Given the description of an element on the screen output the (x, y) to click on. 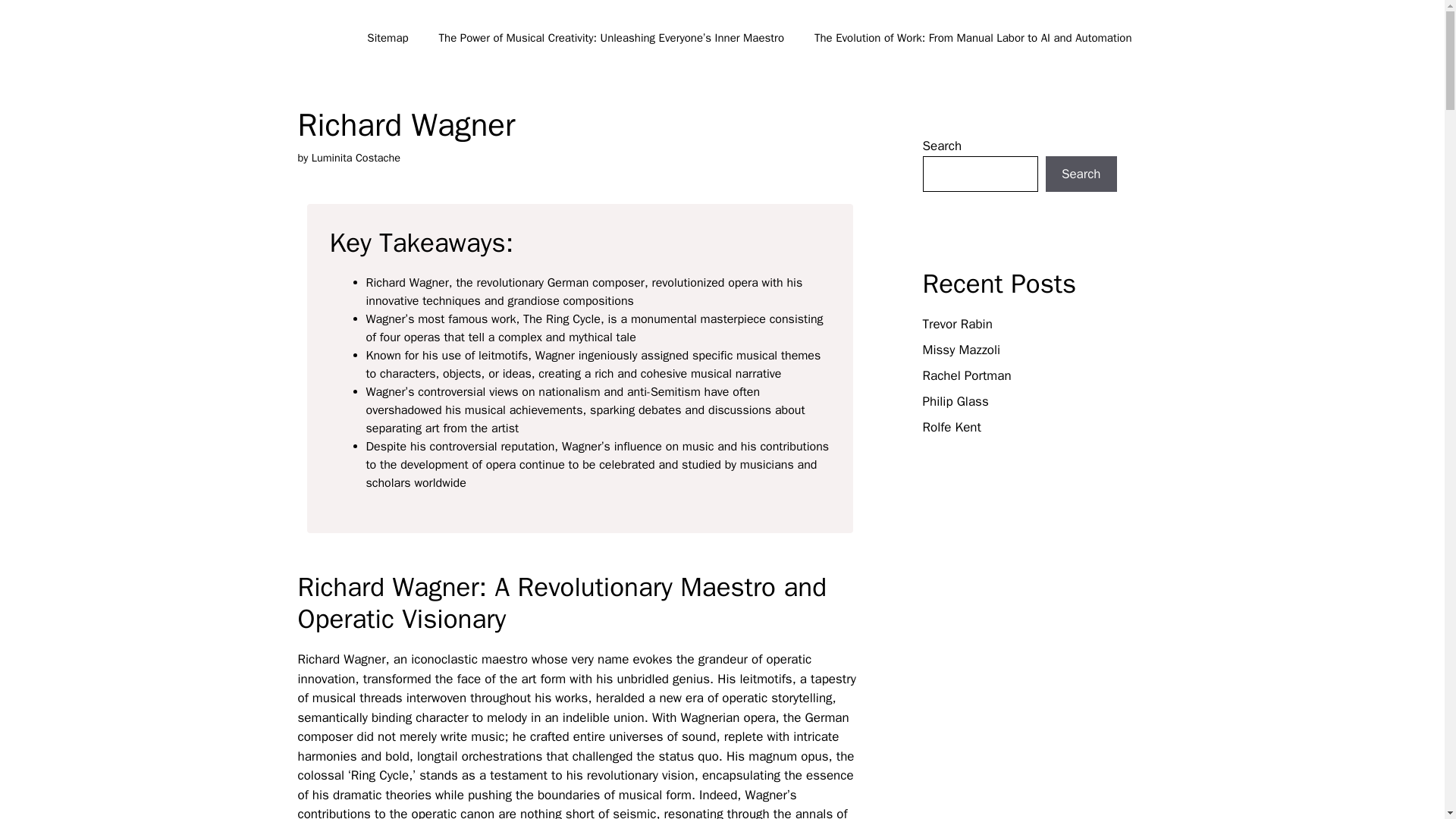
Luminita Costache (355, 157)
Sitemap (387, 37)
View all posts by Luminita Costache (355, 157)
